Given the description of an element on the screen output the (x, y) to click on. 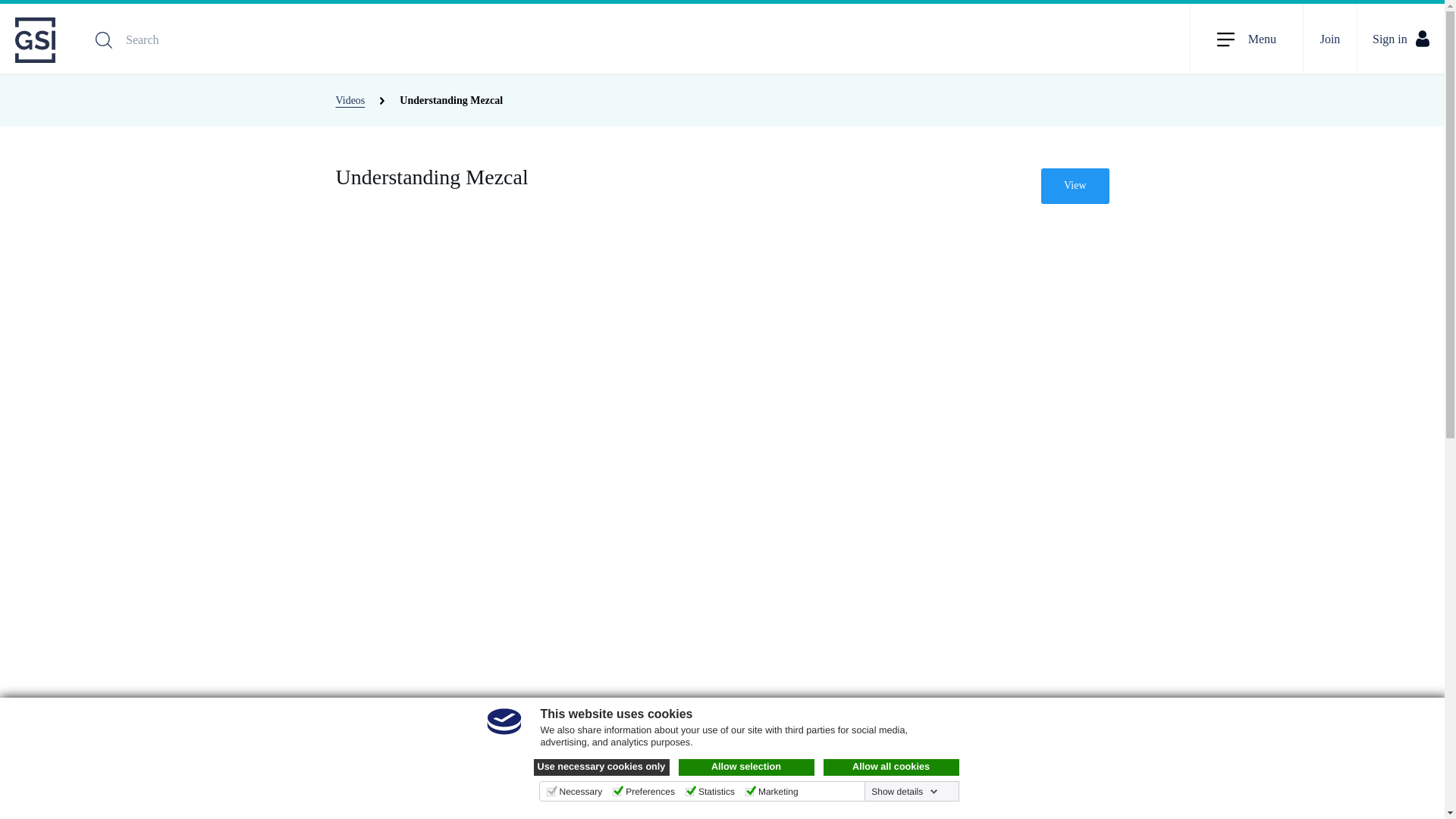
Allow all cookies (891, 767)
Allow selection (745, 767)
Show details (903, 791)
Use necessary cookies only (601, 767)
